Given the description of an element on the screen output the (x, y) to click on. 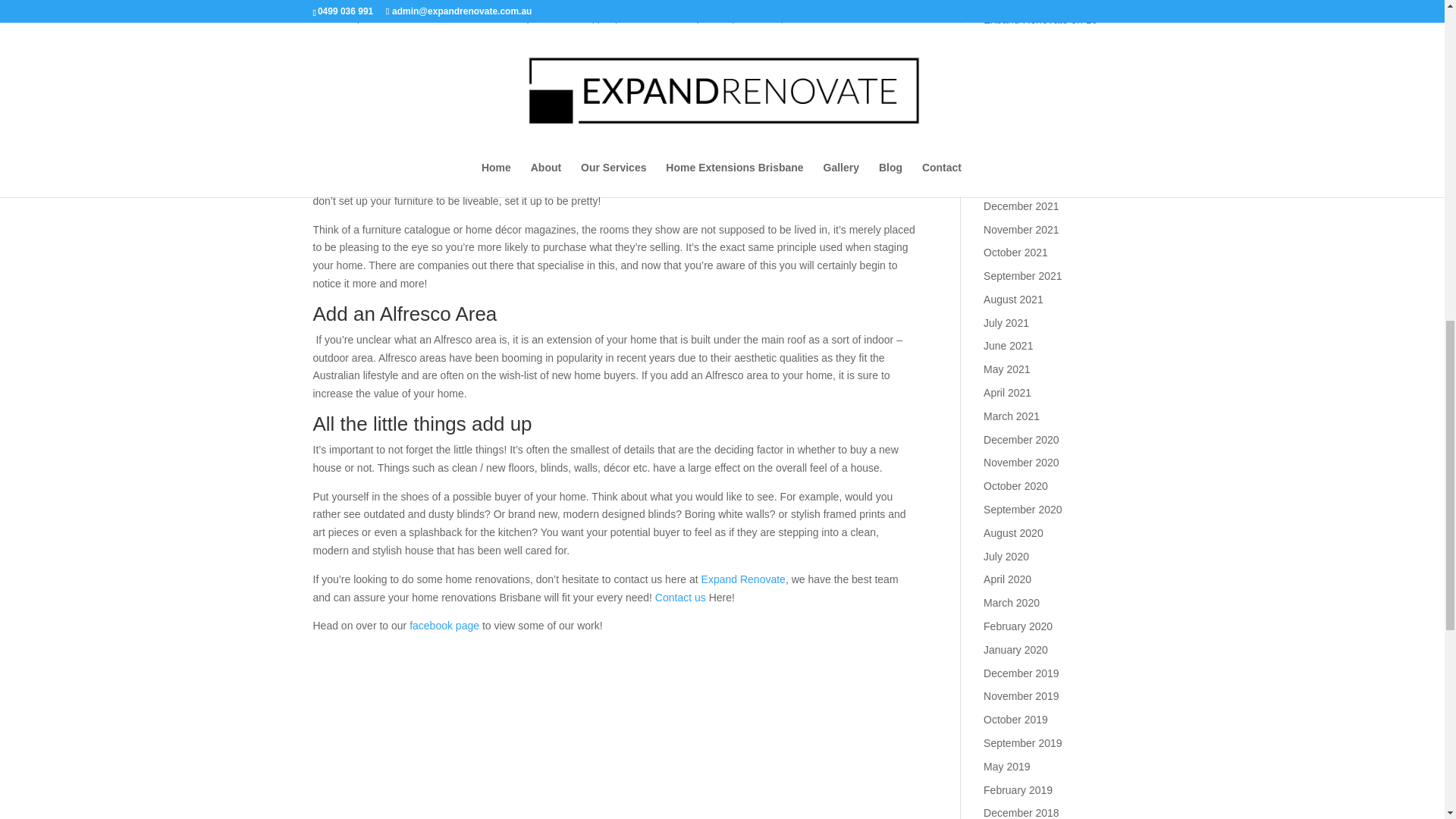
June 2022 (1008, 182)
July 2022 (1006, 159)
A WordPress Commenter (1043, 79)
 facebook page (442, 625)
Hello world! (1011, 96)
Contact us (680, 597)
10 Common Home Renovation Mistakes to Avoid (1049, 37)
December 2021 (1021, 205)
Expand Renovate (743, 579)
